Given the description of an element on the screen output the (x, y) to click on. 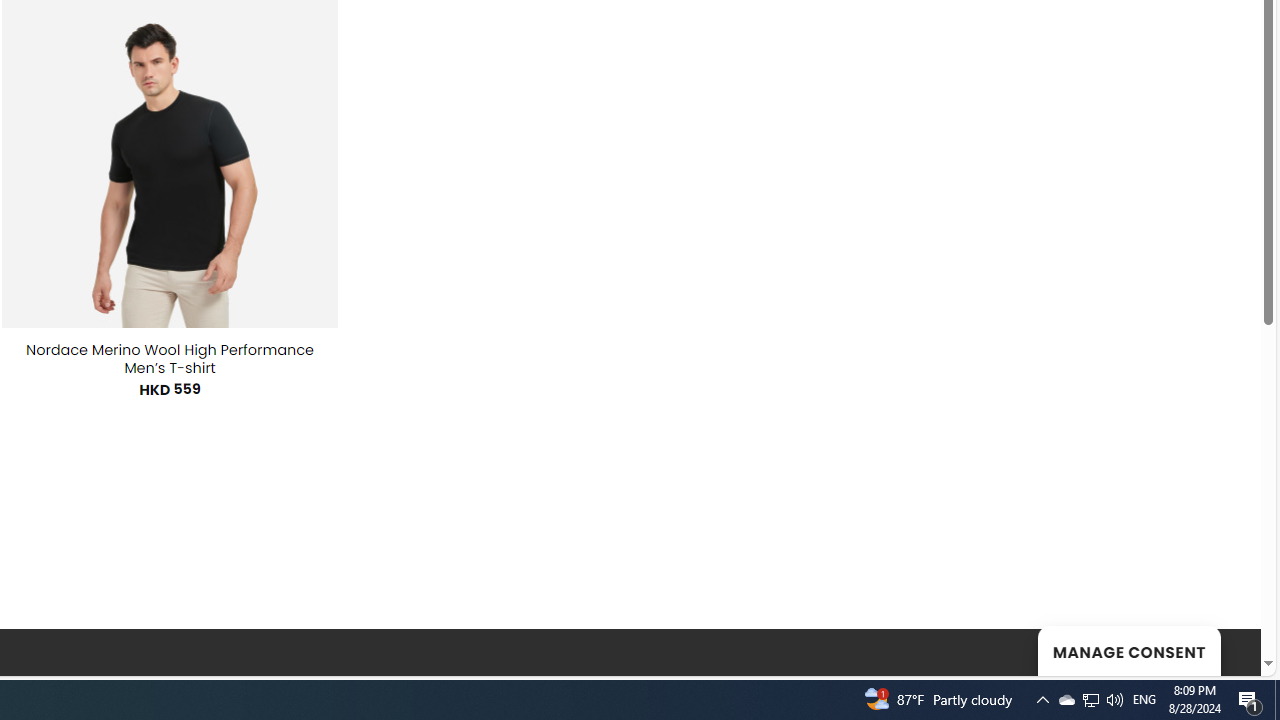
Go to top (1220, 647)
MANAGE CONSENT (1128, 650)
